Given the description of an element on the screen output the (x, y) to click on. 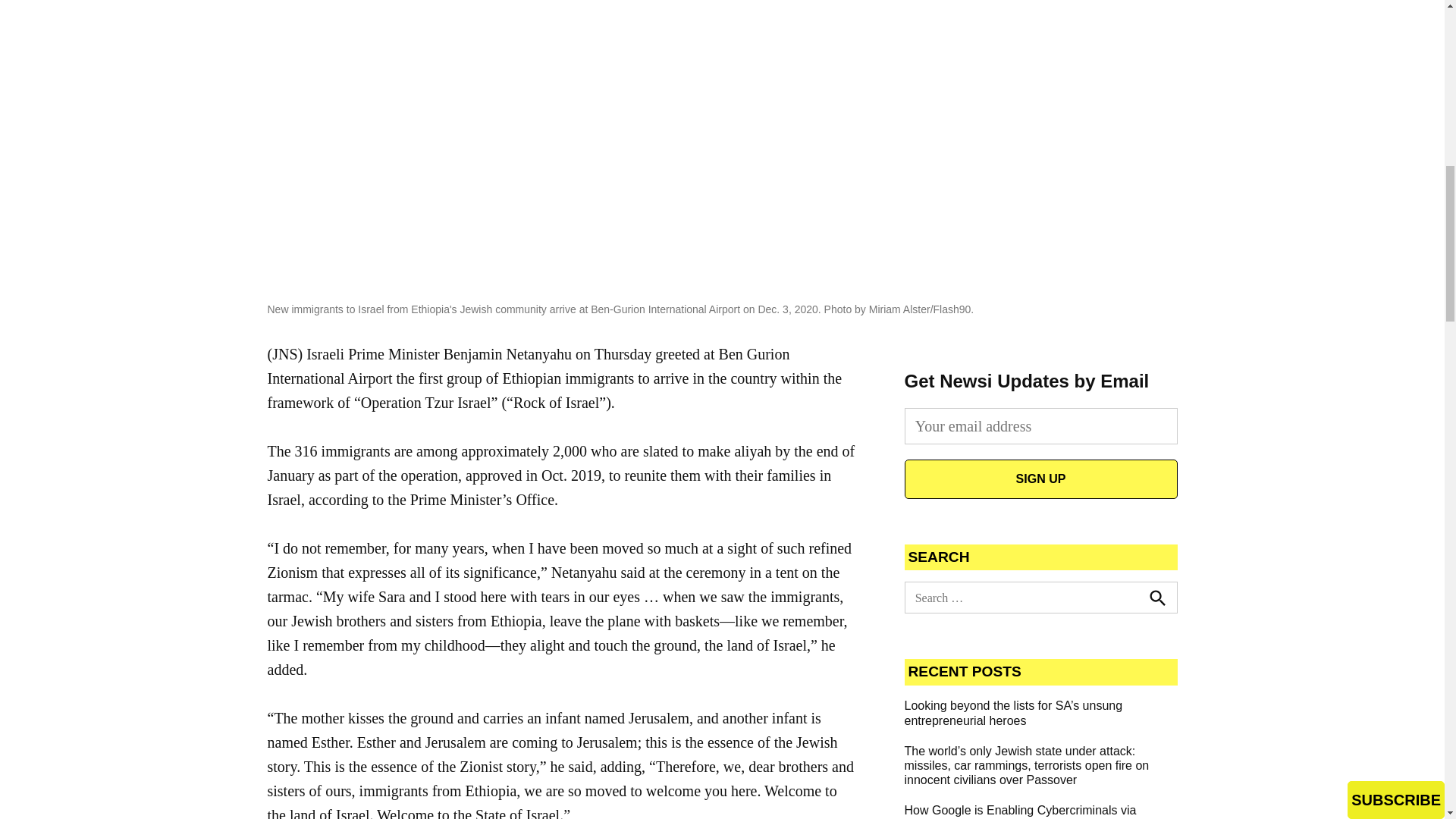
Sign up (1040, 478)
Sign up (1040, 478)
Search (1156, 597)
